Given the description of an element on the screen output the (x, y) to click on. 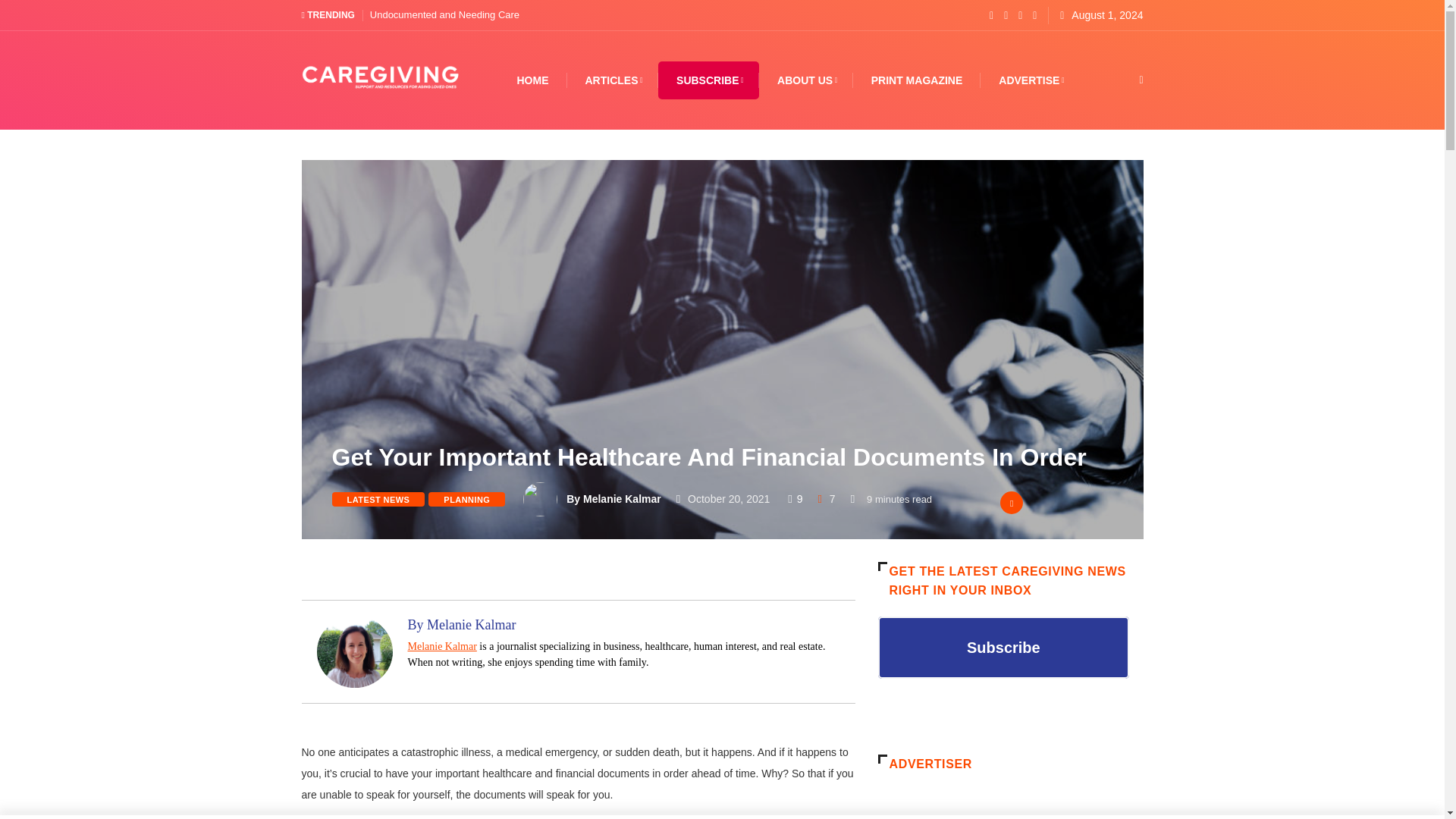
PLANNING (466, 498)
PRINT MAGAZINE (916, 80)
By Melanie Kalmar (613, 499)
popup modal for search (1117, 80)
Undocumented and Needing Care (444, 14)
LATEST NEWS (378, 498)
